Given the description of an element on the screen output the (x, y) to click on. 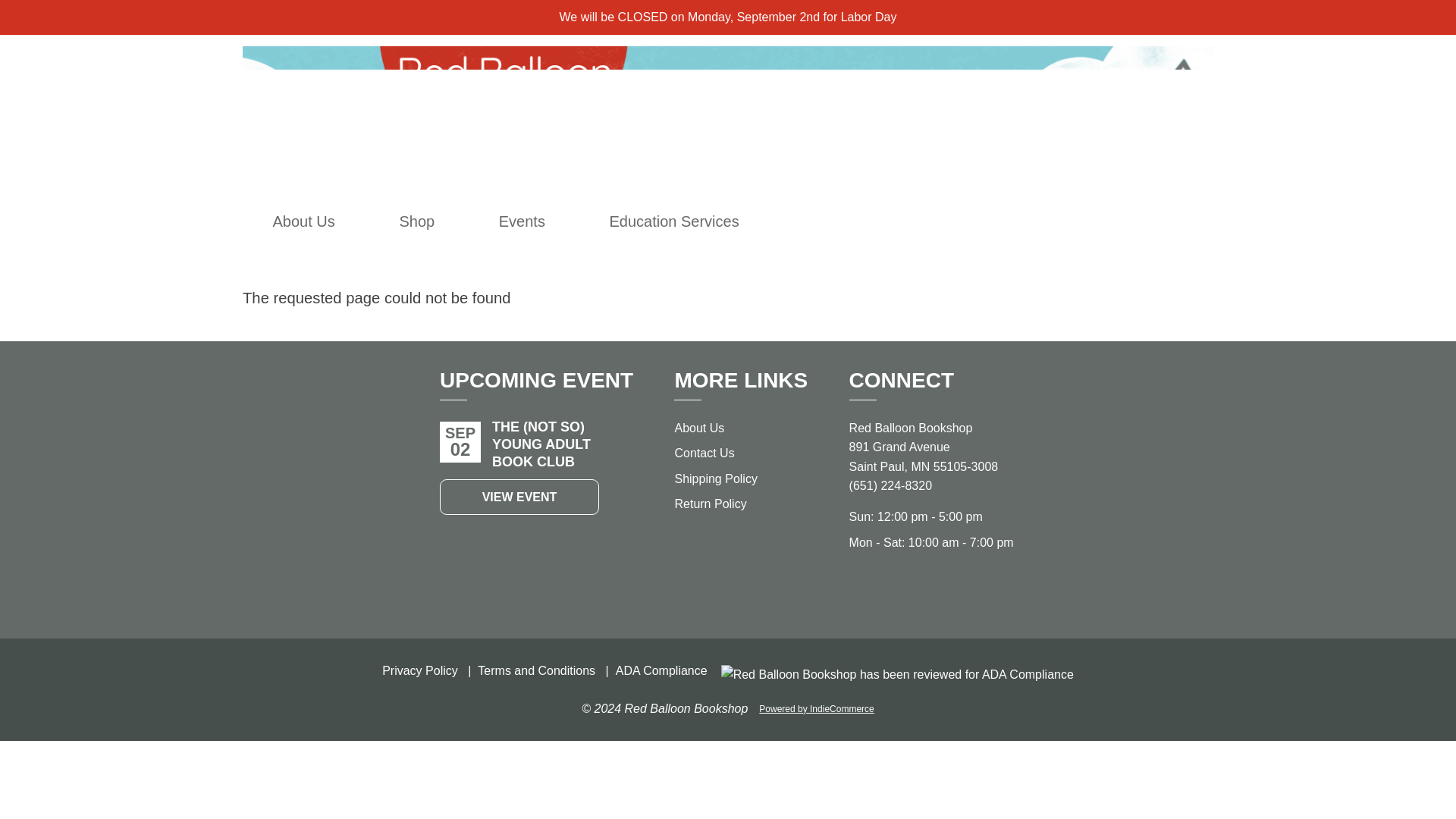
Education Services (673, 221)
Wishlist (1060, 221)
Connect with Facebook (891, 585)
Wishlists (1060, 221)
Search (993, 221)
Submit (1175, 172)
Cart (1093, 221)
Events (521, 221)
Log in (1026, 221)
